Given the description of an element on the screen output the (x, y) to click on. 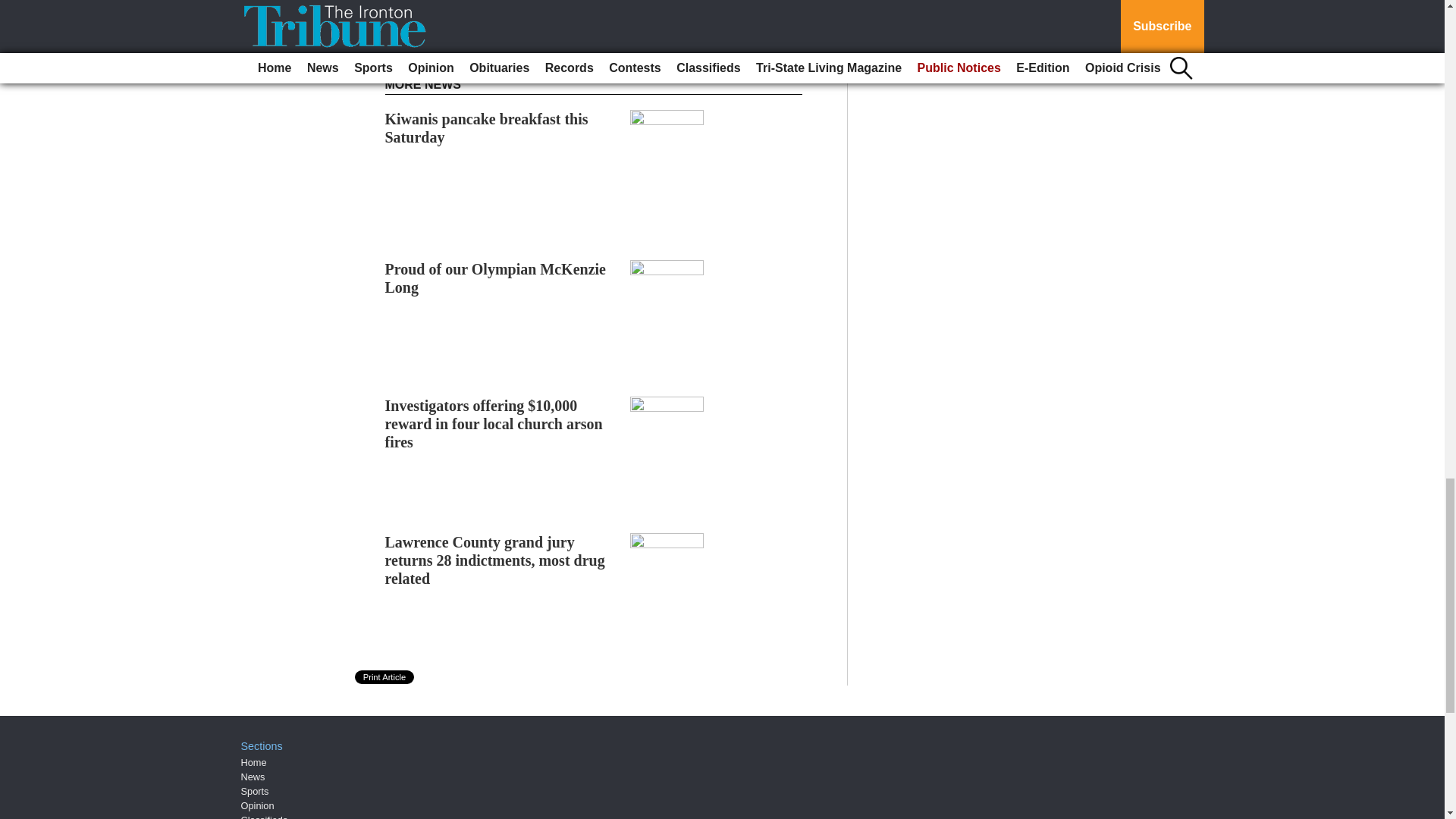
Proud of our Olympian McKenzie Long (495, 278)
Kiwanis pancake breakfast this Saturday (486, 127)
Proud of our Olympian McKenzie Long (495, 278)
Home (253, 762)
News (252, 776)
Kiwanis pancake breakfast this Saturday (486, 127)
Print Article (384, 676)
Sports (255, 790)
